Given the description of an element on the screen output the (x, y) to click on. 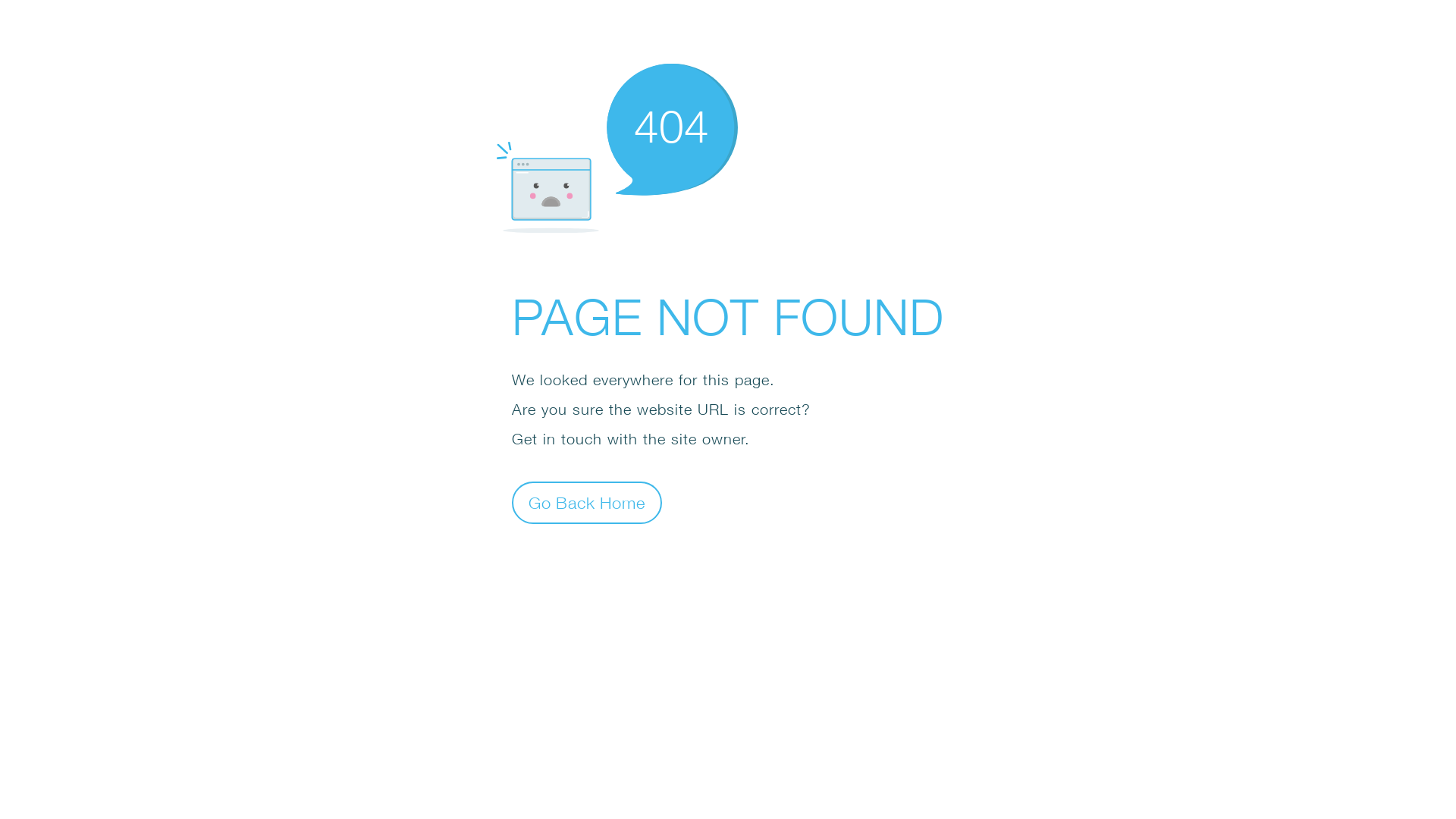
Go Back Home Element type: text (586, 502)
